Given the description of an element on the screen output the (x, y) to click on. 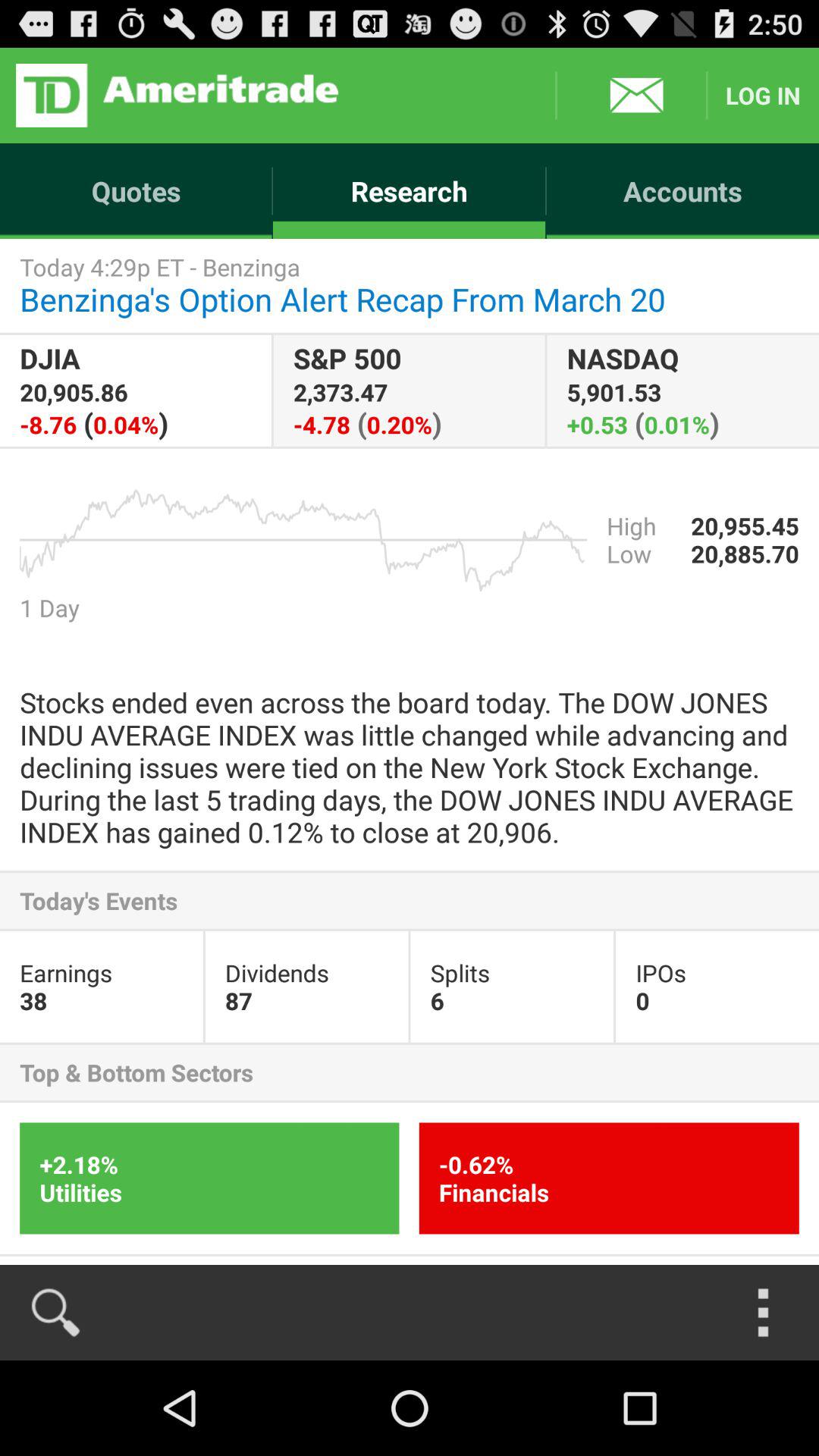
press item next to the s p 500 app (135, 390)
